Given the description of an element on the screen output the (x, y) to click on. 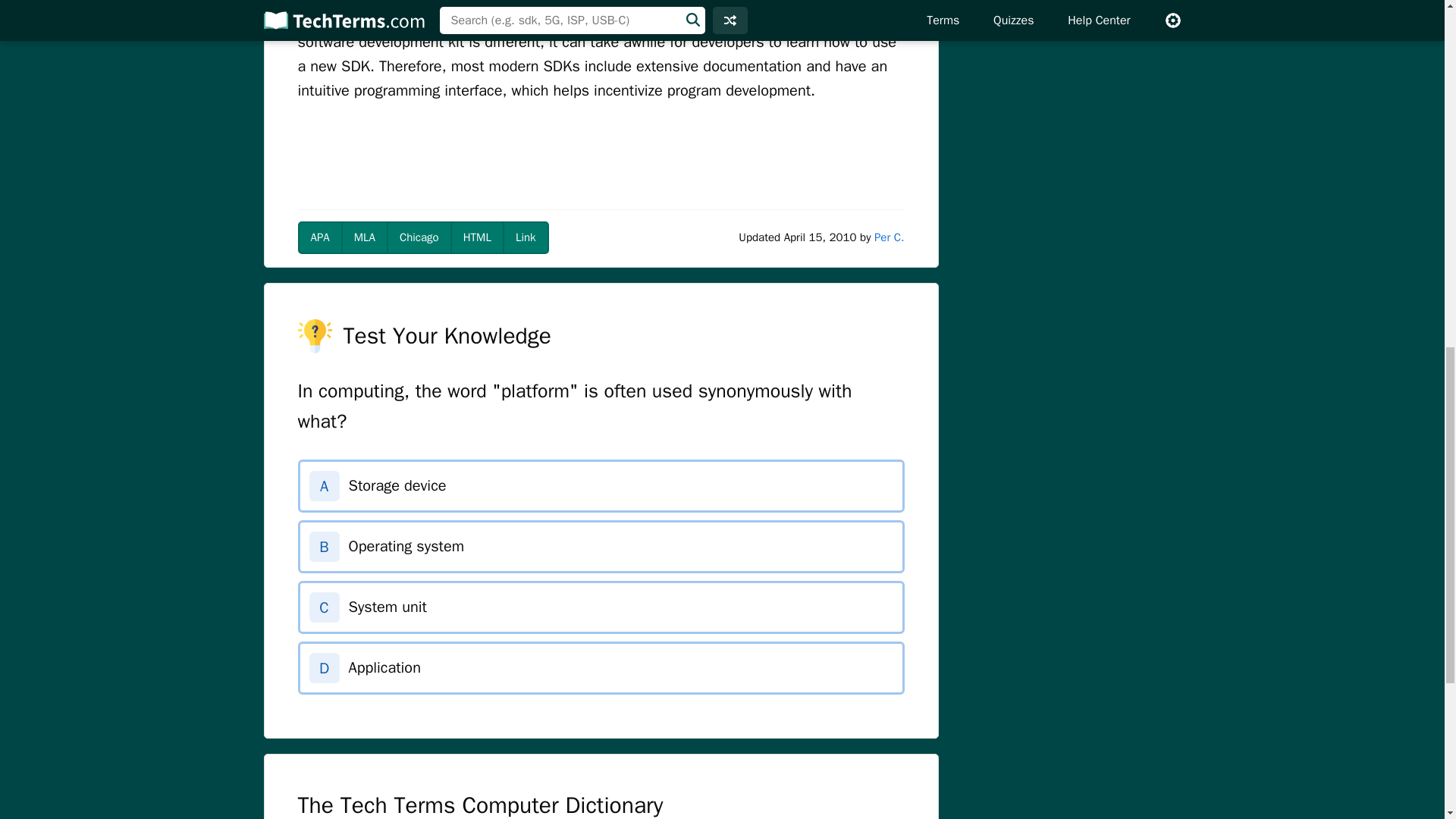
MLA (363, 237)
APA (319, 237)
Link (524, 237)
platform (324, 1)
Per C. (889, 237)
HTML (475, 237)
Chicago (418, 237)
